Given the description of an element on the screen output the (x, y) to click on. 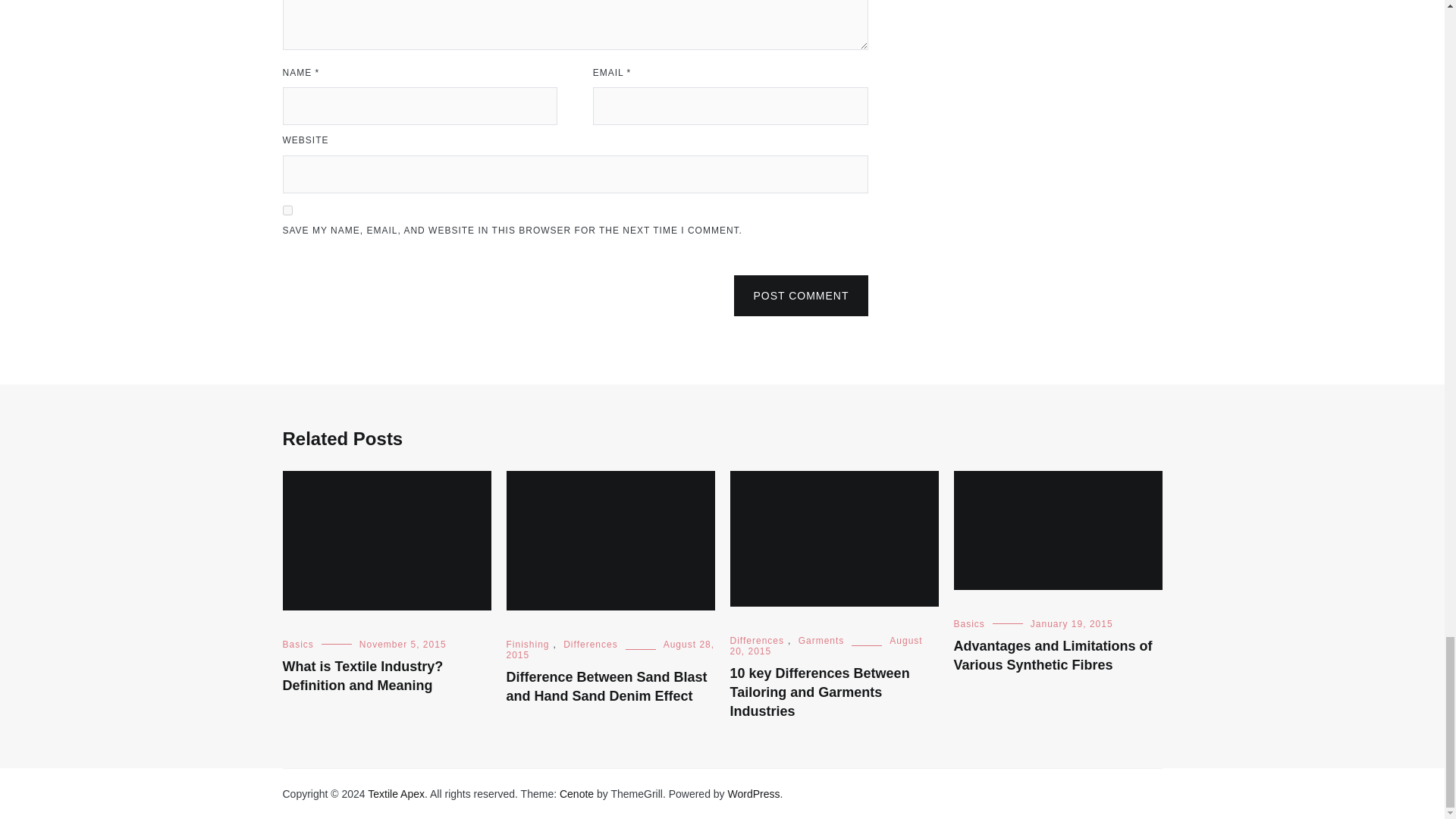
yes (287, 210)
